Given the description of an element on the screen output the (x, y) to click on. 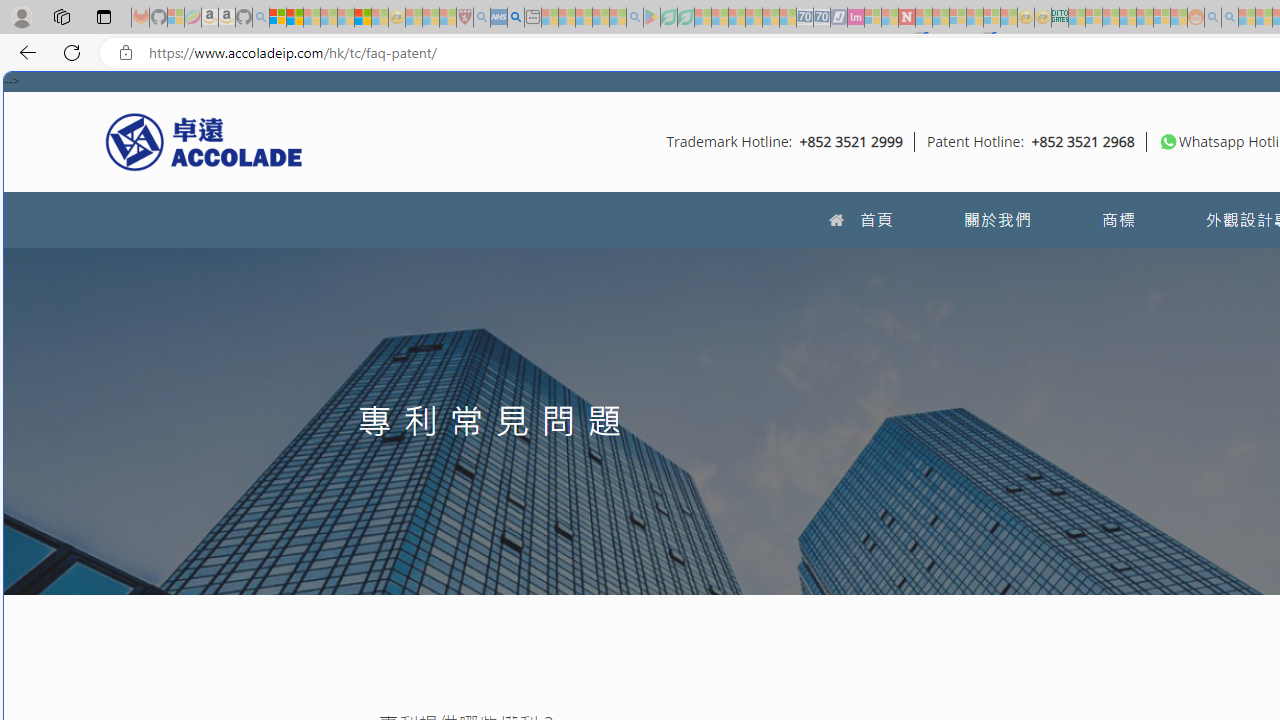
utah sues federal government - Search (515, 17)
Accolade IP HK Logo (203, 141)
